Given the description of an element on the screen output the (x, y) to click on. 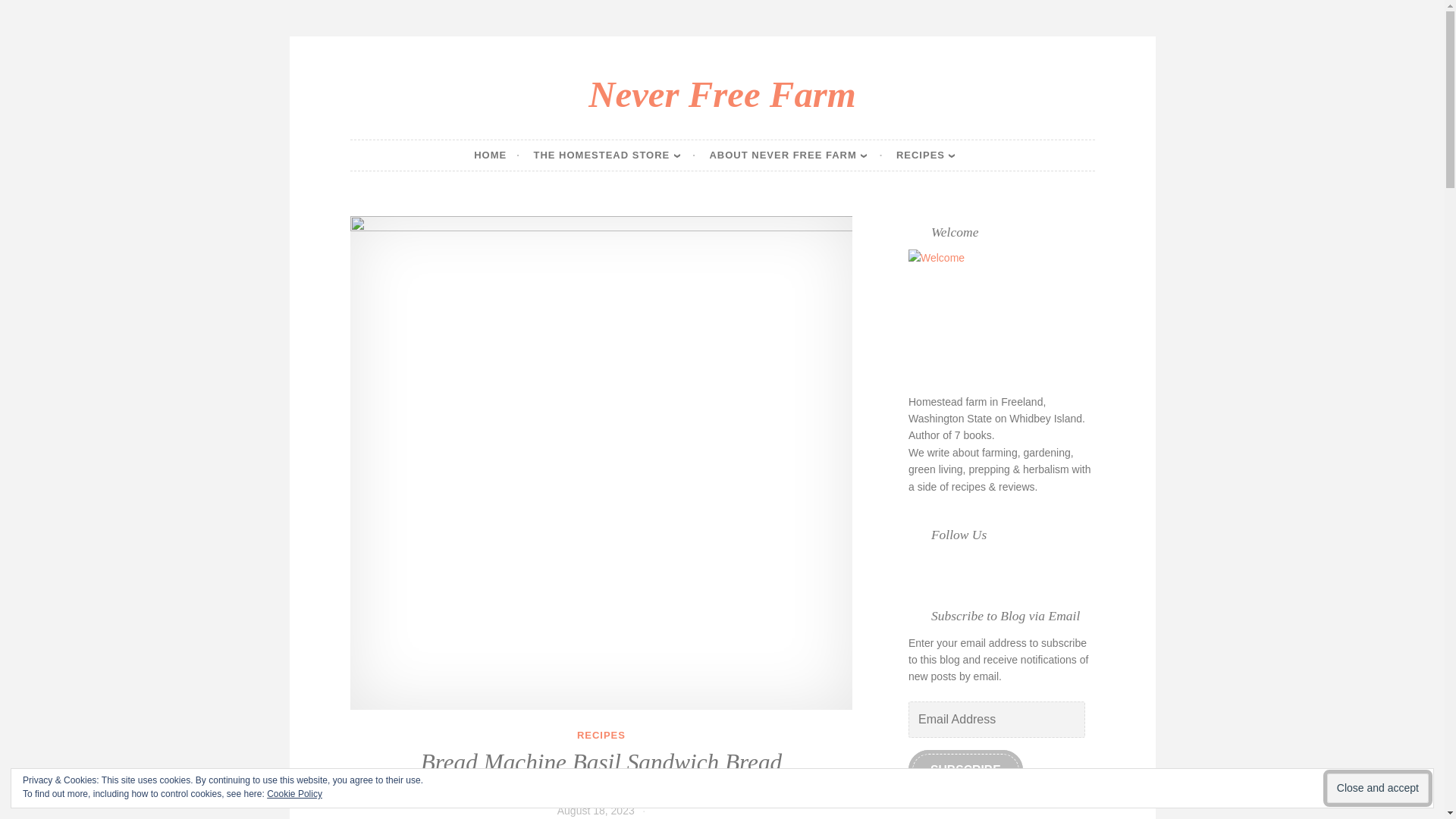
RECIPES (933, 155)
Never Free Farm (722, 94)
THE HOMESTEAD STORE (613, 155)
ABOUT NEVER FREE FARM (795, 155)
August 18, 2023 (595, 810)
RECIPES (601, 735)
Close and accept (1377, 788)
